Given the description of an element on the screen output the (x, y) to click on. 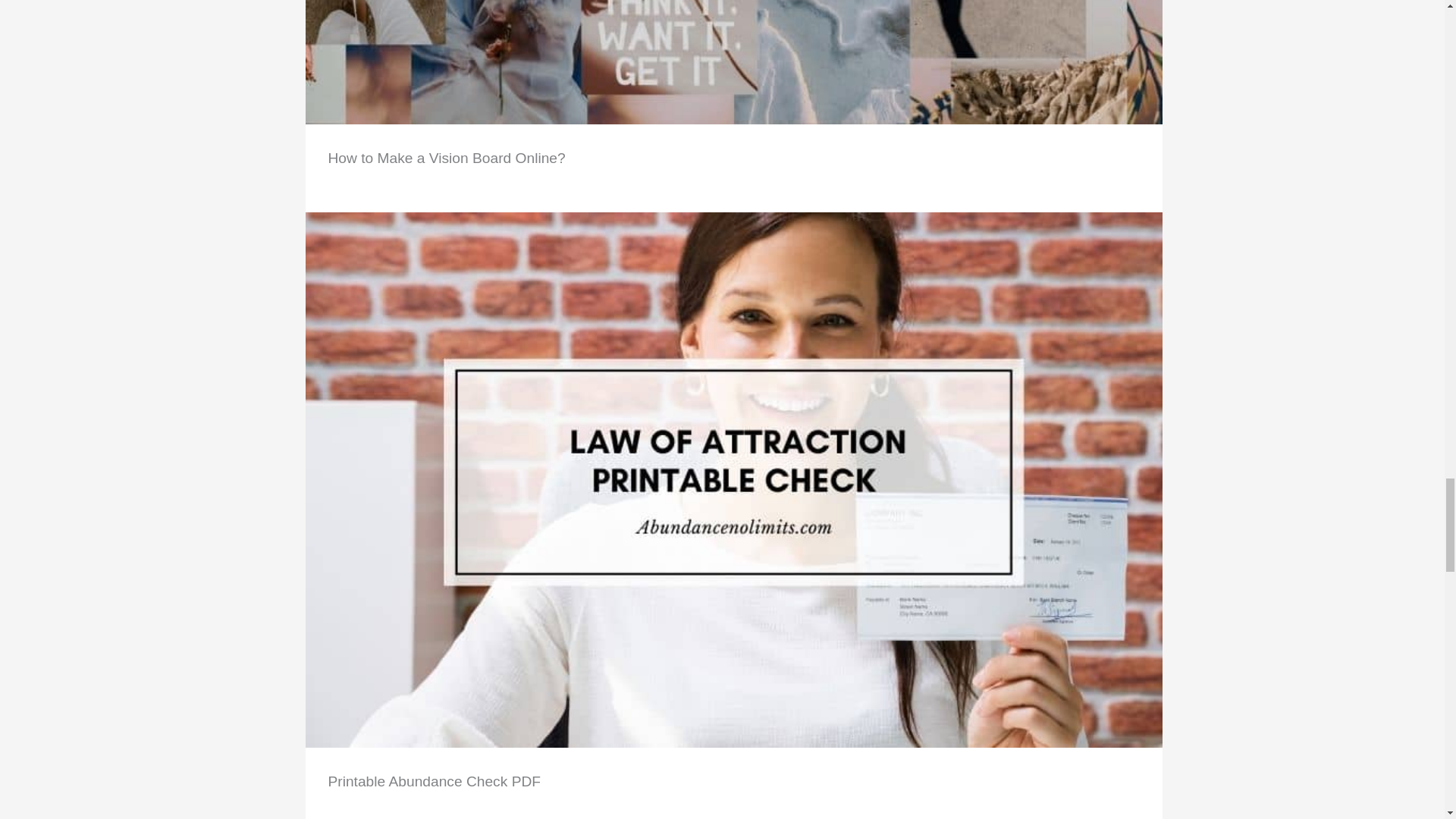
Printable Abundance Check PDF (433, 781)
How to Make a Vision Board Online? (445, 157)
Printable Abundance Check PDF (732, 478)
